Given the description of an element on the screen output the (x, y) to click on. 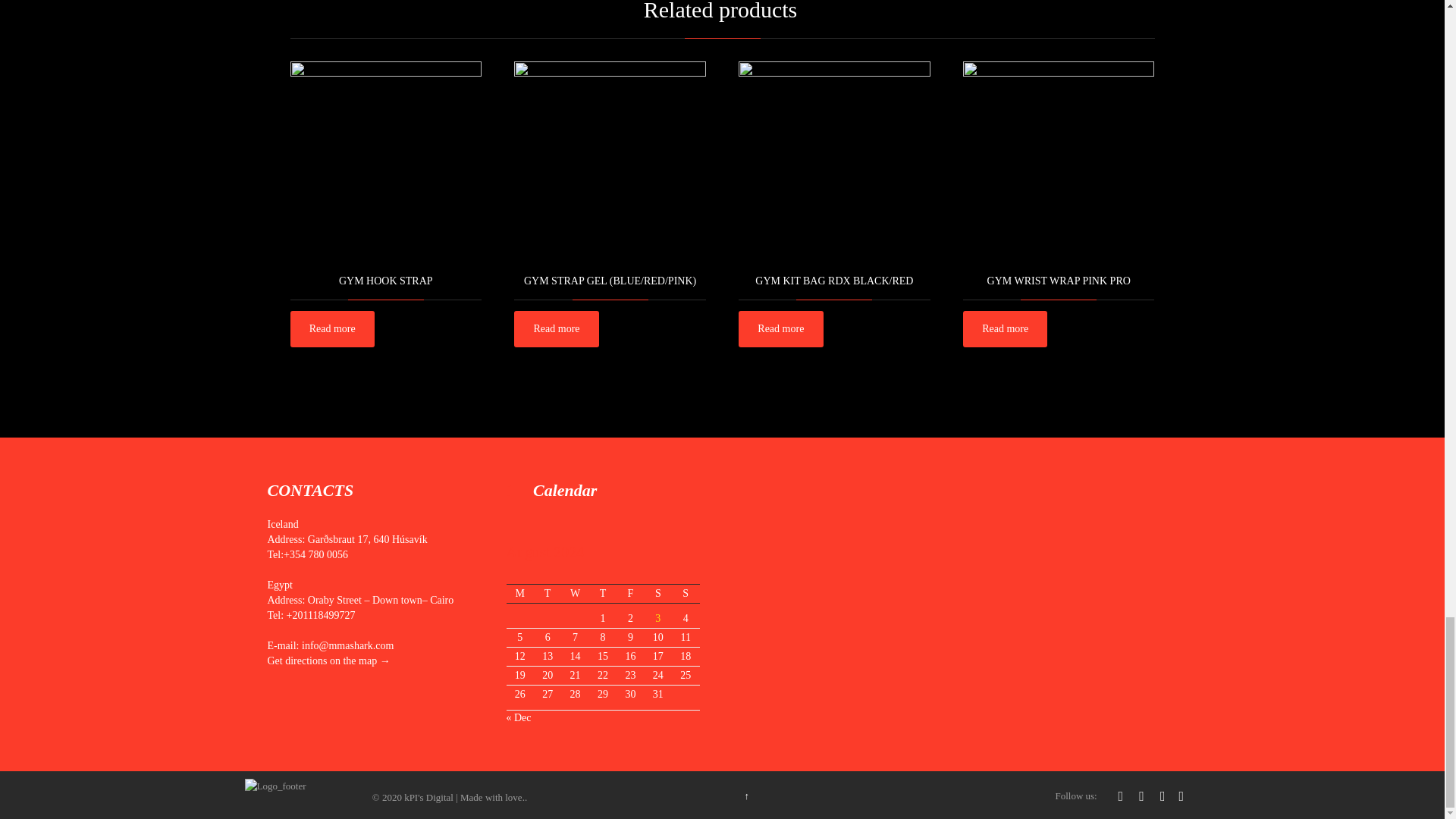
Read more (331, 329)
